Given the description of an element on the screen output the (x, y) to click on. 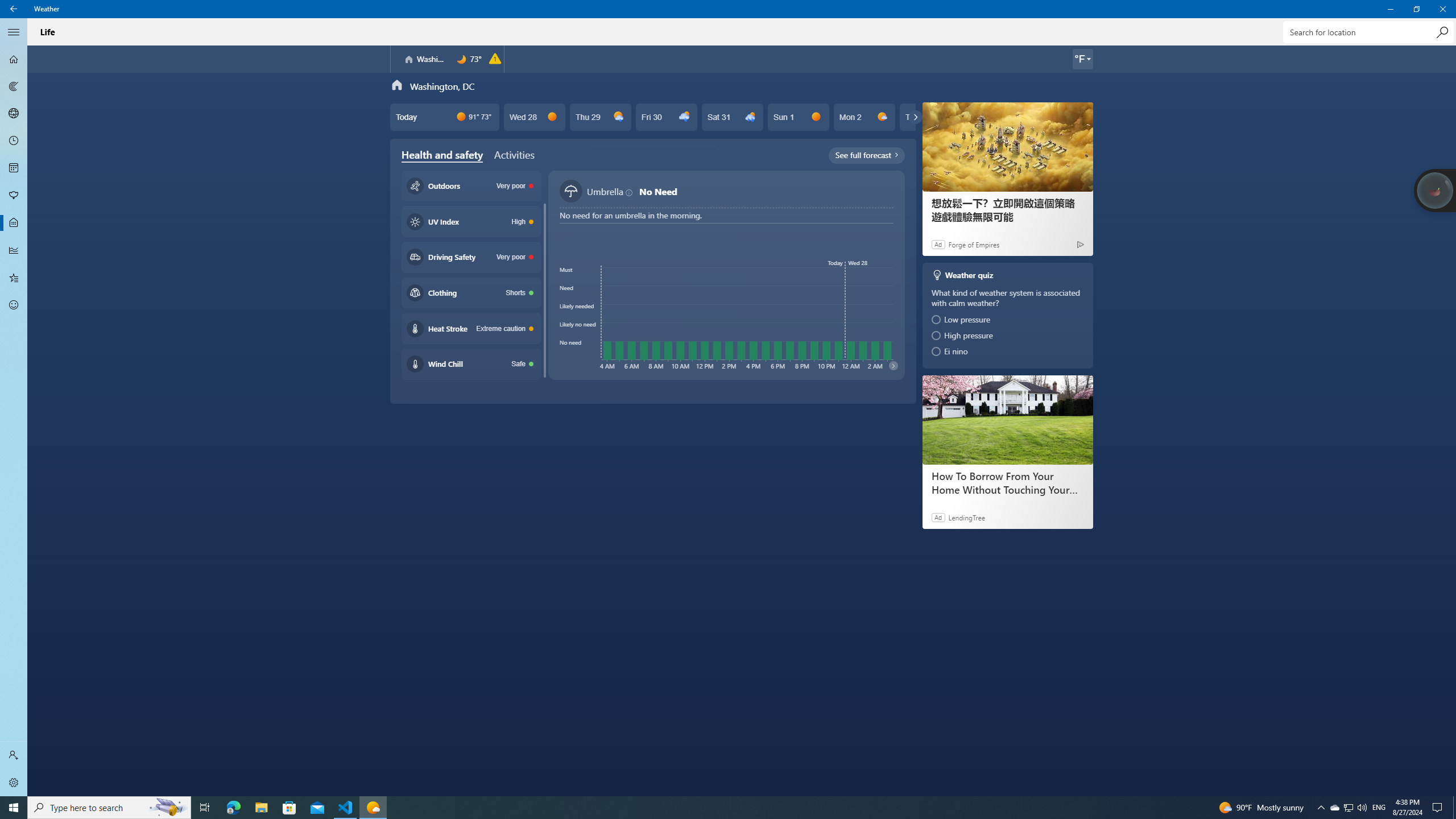
Life - Not Selected (13, 222)
Settings (13, 782)
Search for location (1367, 32)
Weather - 1 running window (373, 807)
